Given the description of an element on the screen output the (x, y) to click on. 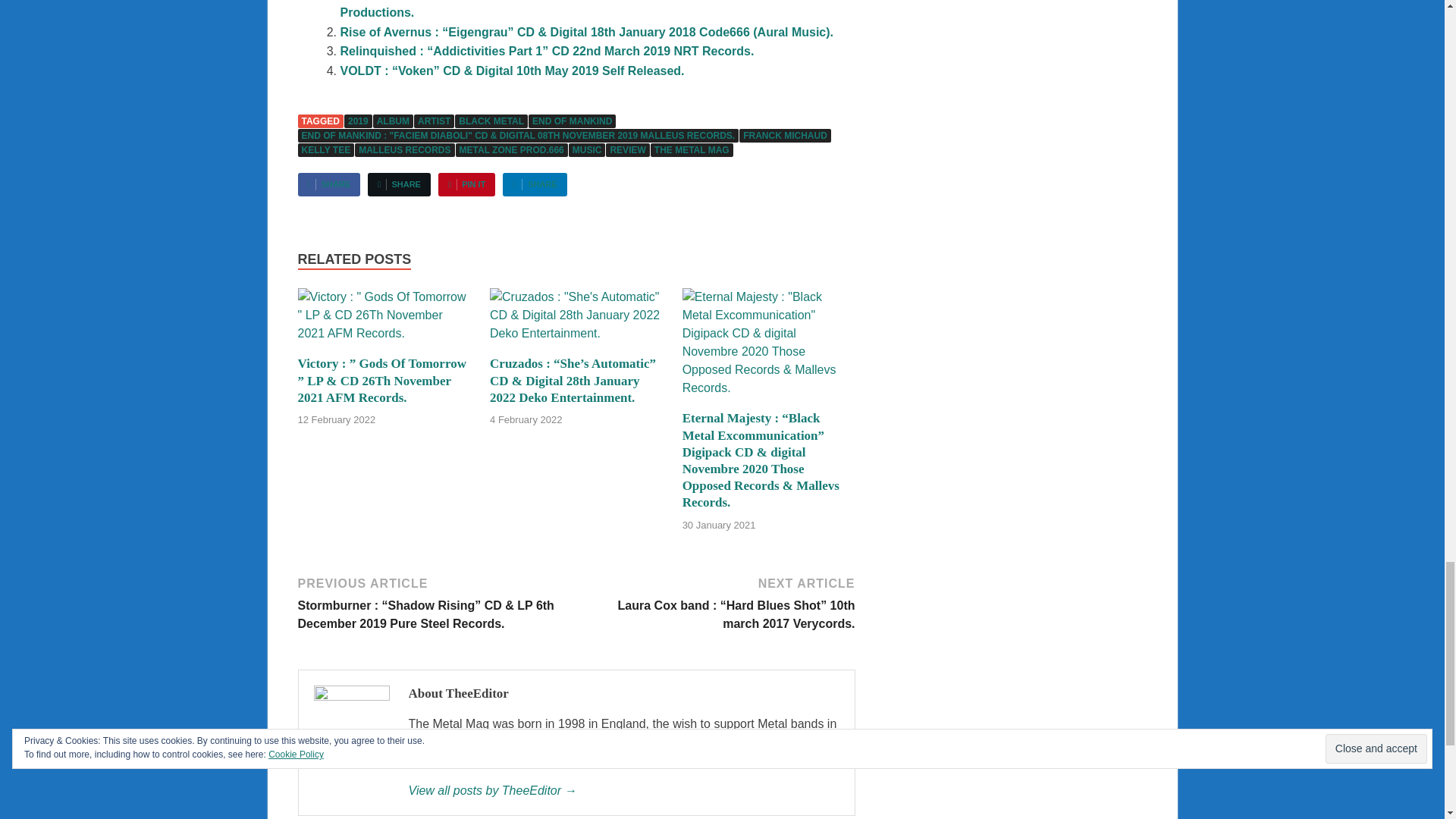
TheeEditor (622, 791)
